Given the description of an element on the screen output the (x, y) to click on. 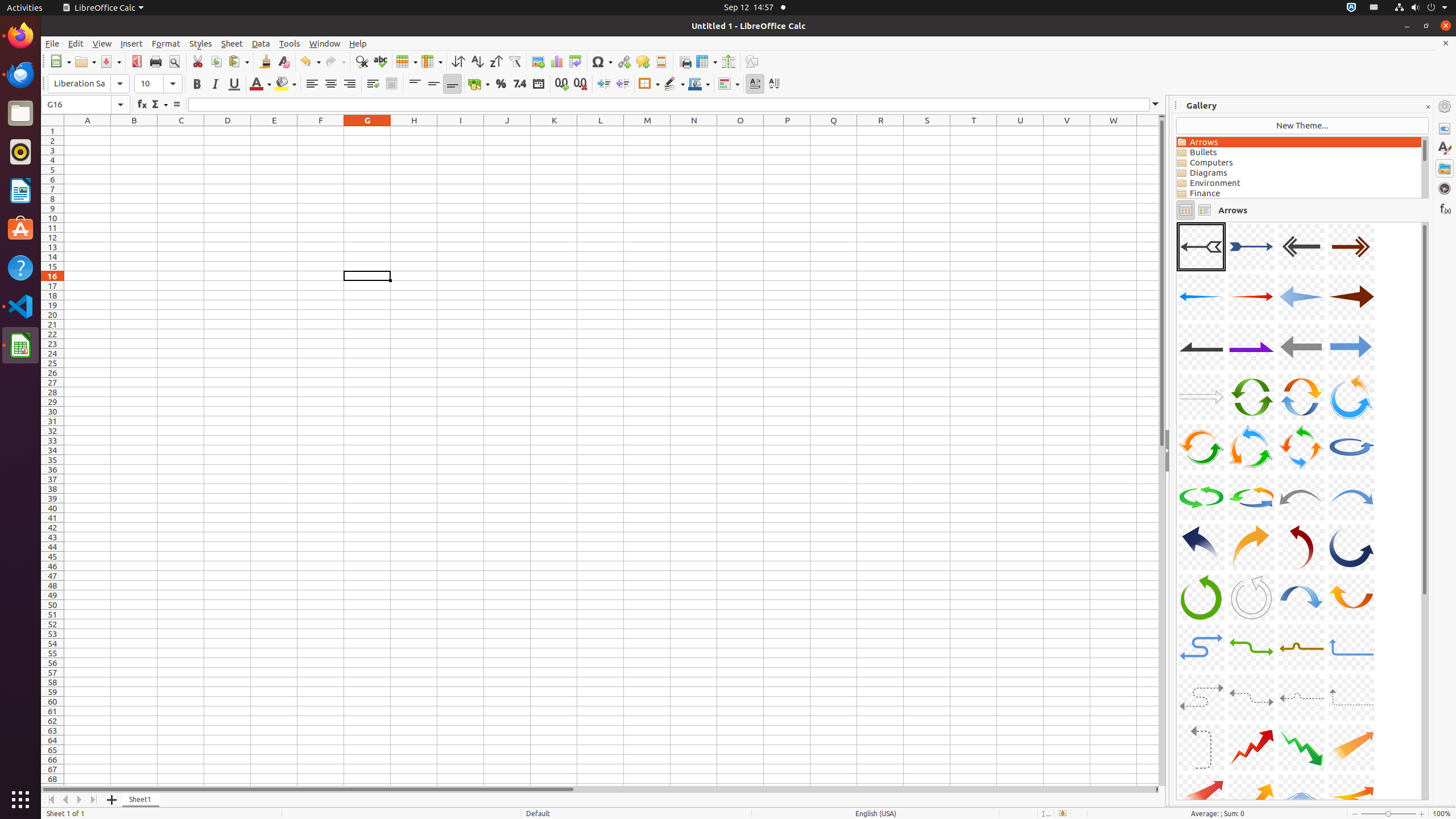
A17-CircleArrow Element type: list-item (1200, 446)
Print Preview Element type: toggle-button (173, 61)
Comment Element type: push-button (642, 61)
A22-CircleArrow Element type: list-item (1250, 496)
LibreOffice Calc Element type: menu (102, 7)
